Given the description of an element on the screen output the (x, y) to click on. 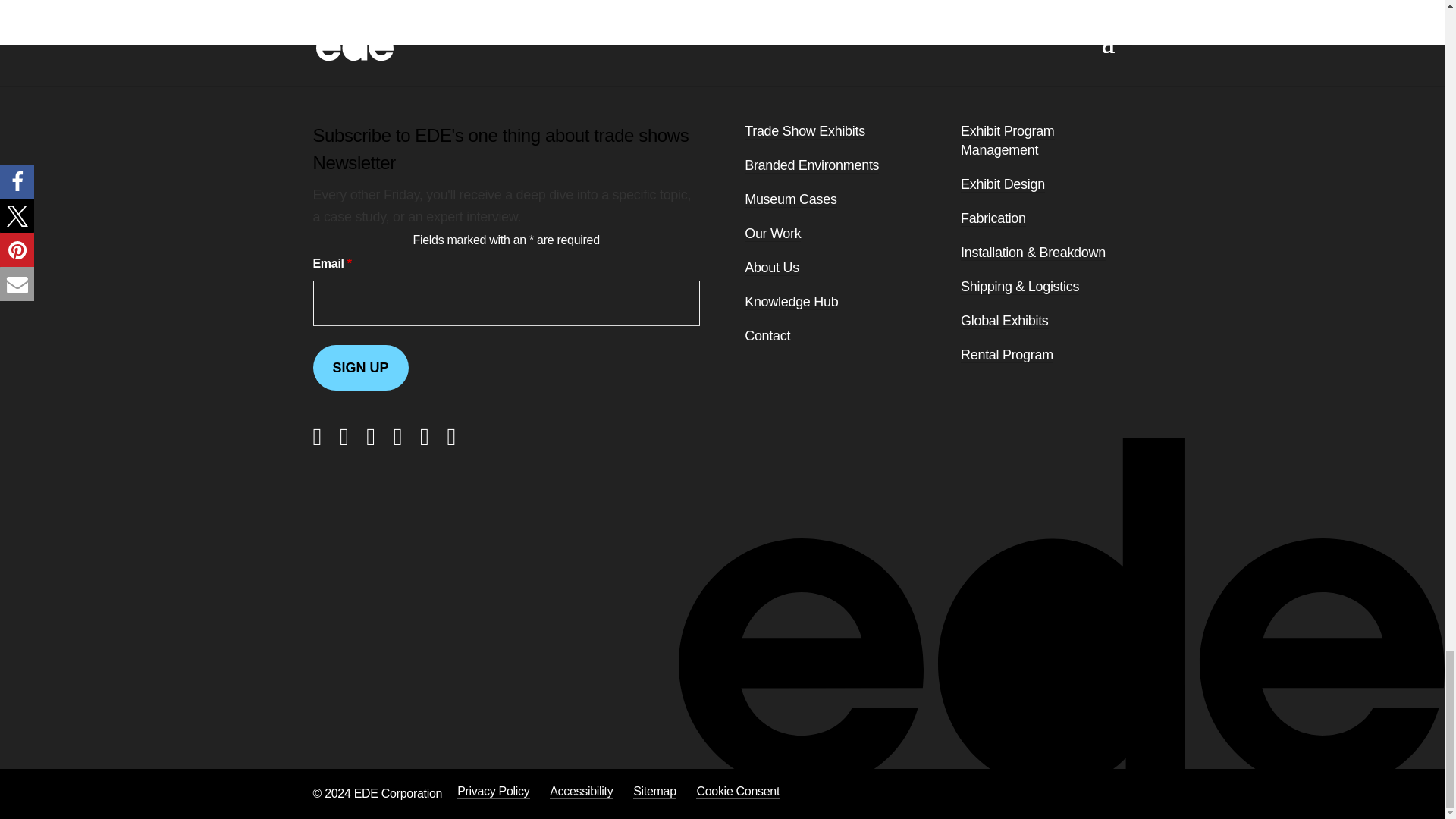
Our Work (772, 233)
Trade Show Exhibits (804, 131)
Branded Environments (811, 165)
Sign Up (360, 367)
Sign Up (360, 367)
Knowledge Hub (791, 302)
Museum Cases (789, 199)
About Us (771, 268)
Contact (767, 335)
